Given the description of an element on the screen output the (x, y) to click on. 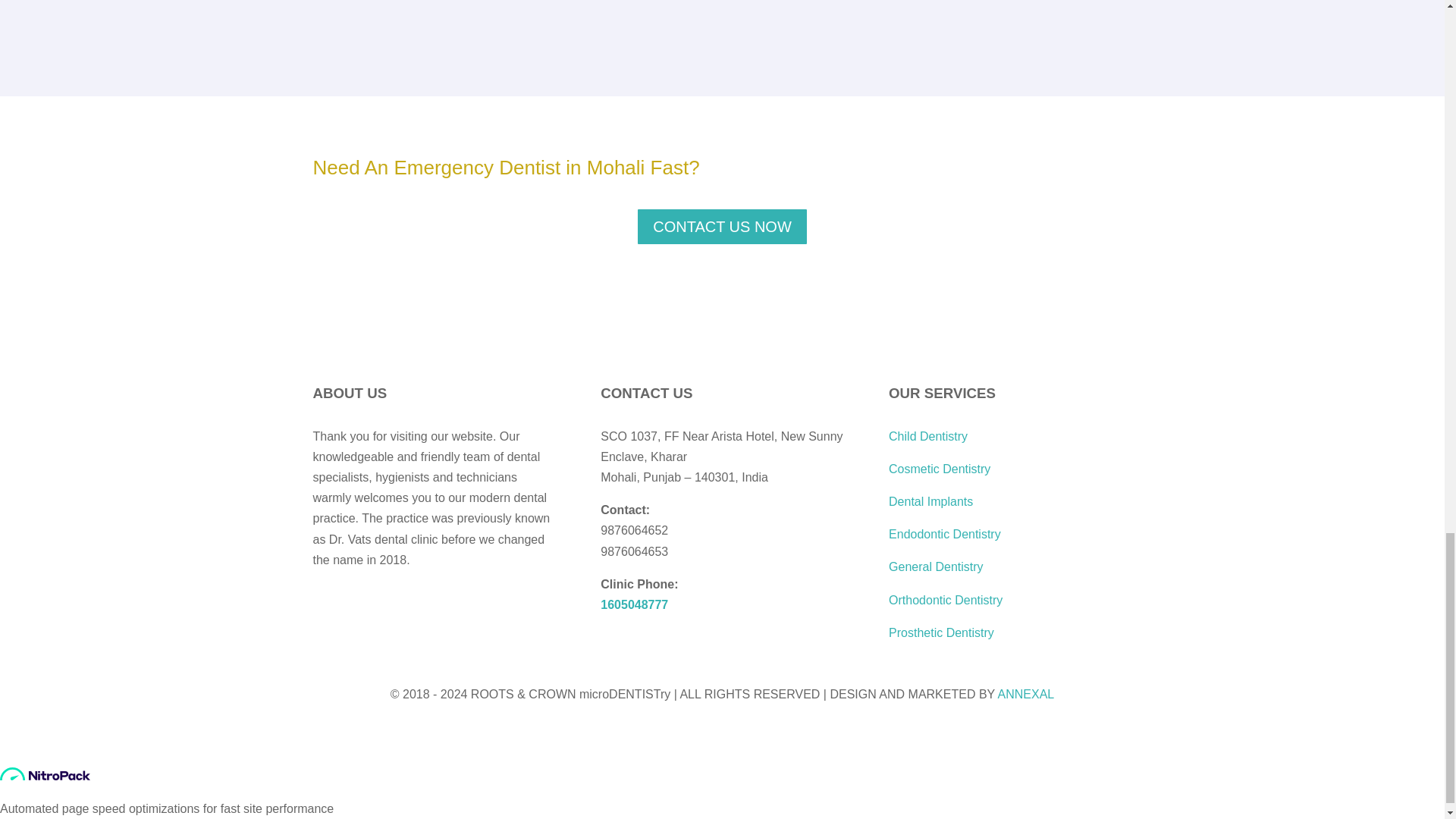
ANNEXAL (1025, 694)
Cosmetic Dentistry (939, 468)
Endodontic Dentistry (944, 533)
Follow on Twitter (354, 604)
Child Dentistry (928, 436)
Follow on Google (415, 604)
Orthodontic Dentistry (945, 599)
CONTACT US NOW (722, 226)
Follow on Facebook (324, 604)
Dental Implants (930, 501)
